Given the description of an element on the screen output the (x, y) to click on. 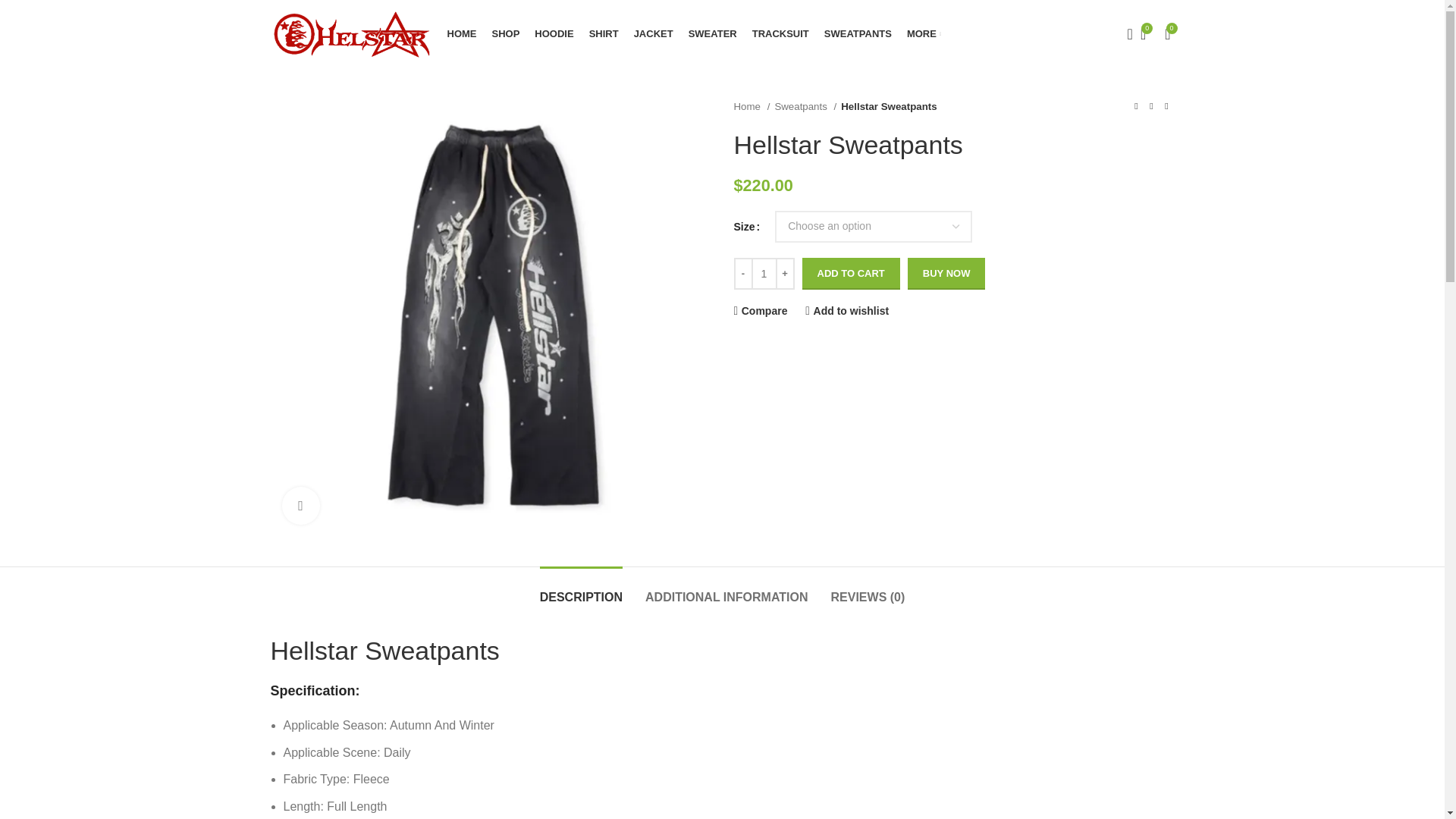
DESCRIPTION (581, 589)
HOME (461, 33)
SHIRT (603, 33)
ADD TO CART (850, 273)
Fleece (371, 779)
Full Length (356, 806)
Compare (760, 310)
Home (751, 106)
MORE (923, 33)
Daily (397, 752)
HOODIE (553, 33)
SHOP (505, 33)
SWEATER (712, 33)
